Given the description of an element on the screen output the (x, y) to click on. 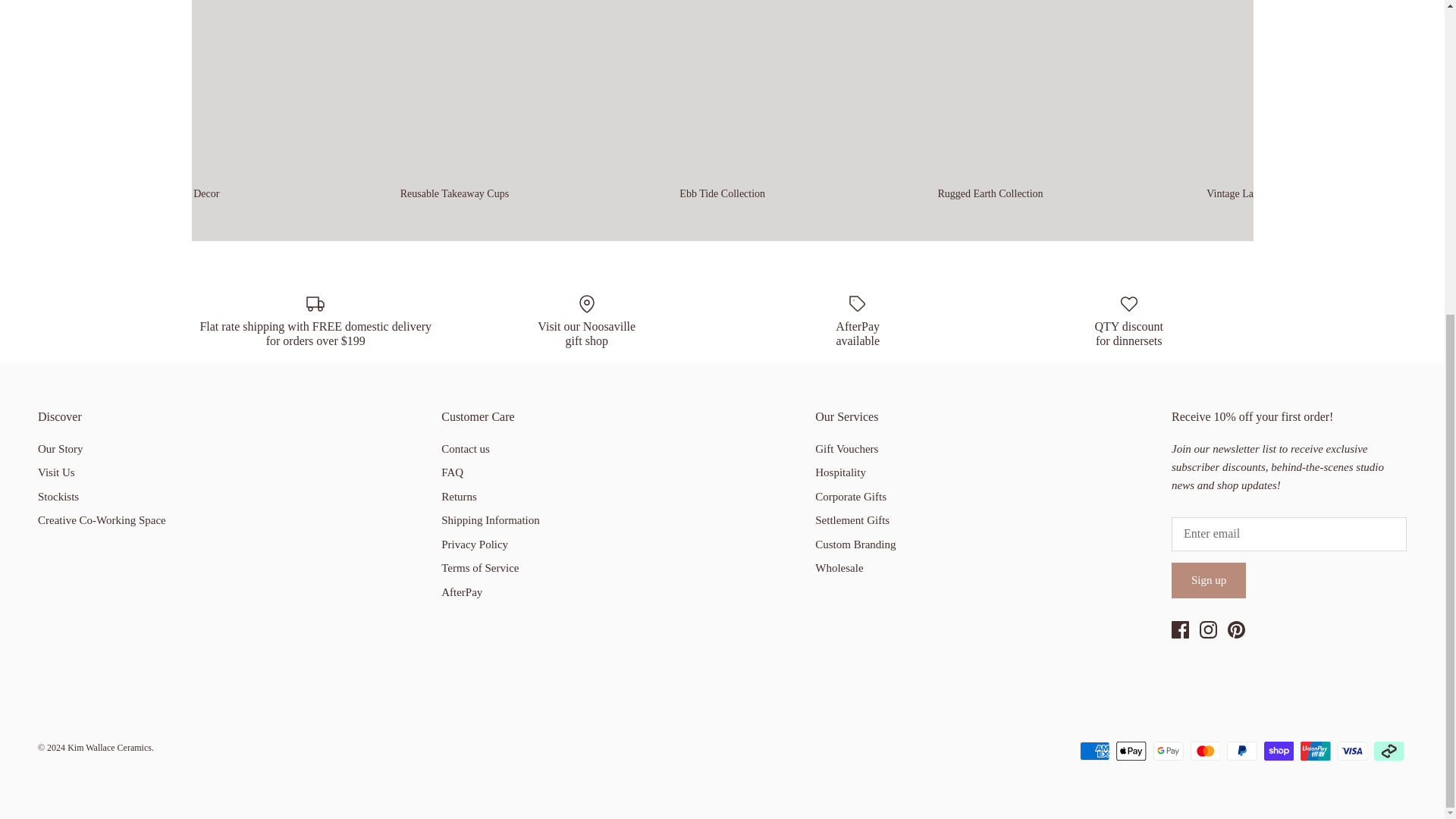
Mastercard (1205, 751)
Google Pay (1168, 751)
Apple Pay (1130, 751)
Shop Pay (1278, 751)
Pinterest (1235, 629)
Instagram (1208, 629)
American Express (1094, 751)
PayPal (1241, 751)
Label (857, 303)
Facebook (1180, 629)
